Given the description of an element on the screen output the (x, y) to click on. 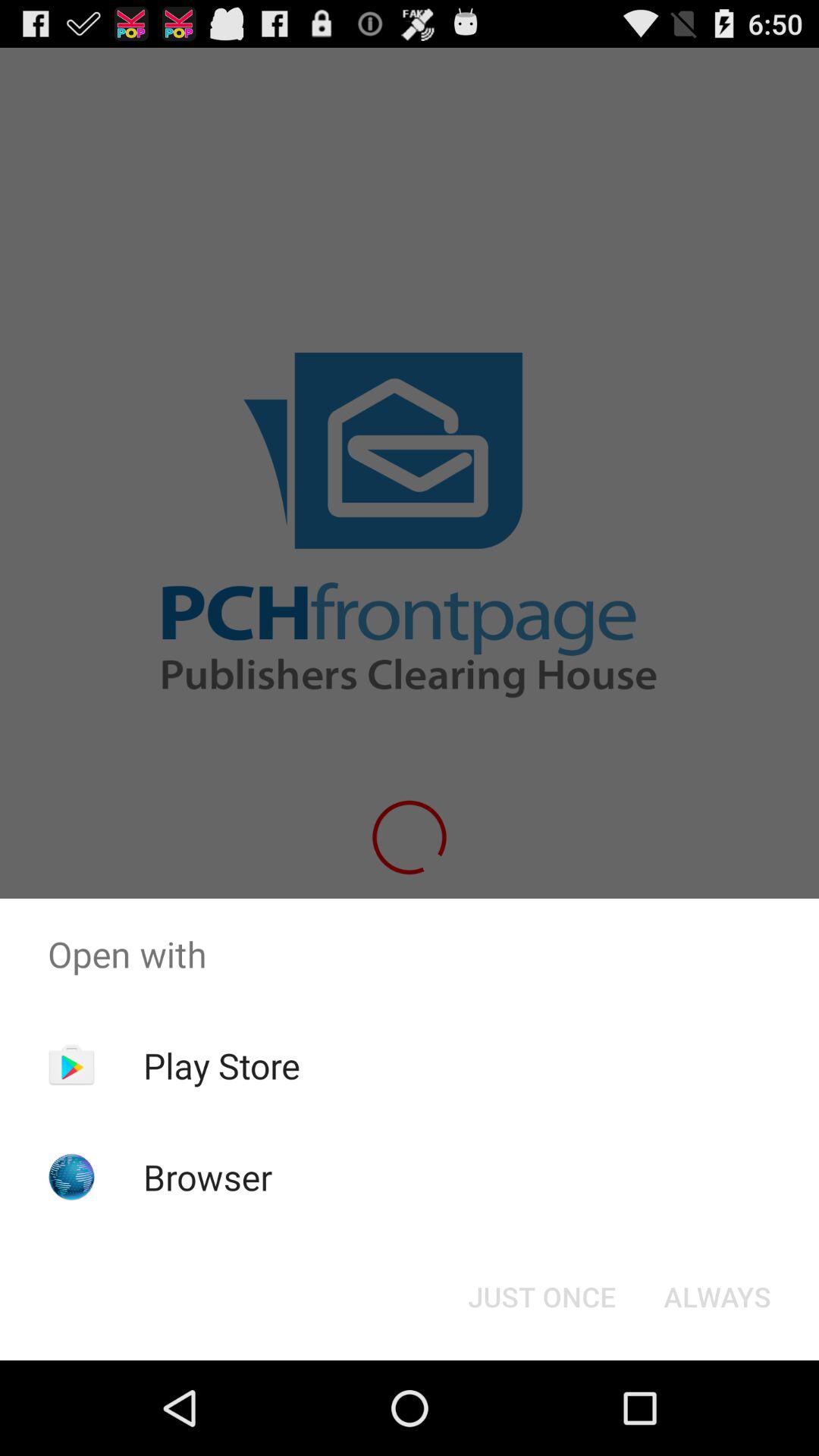
swipe until the browser (207, 1176)
